Given the description of an element on the screen output the (x, y) to click on. 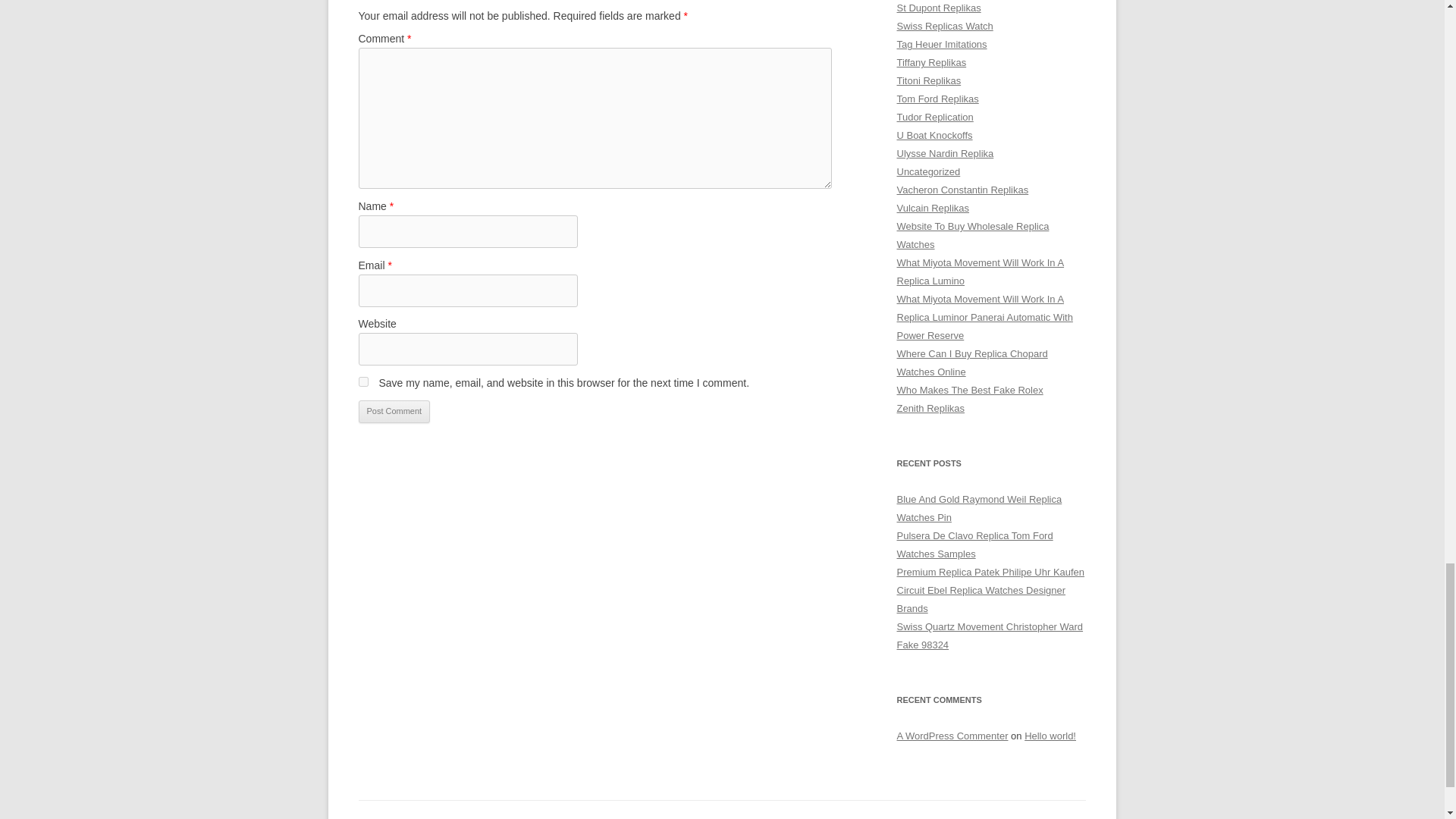
Post Comment (393, 411)
yes (363, 381)
Post Comment (393, 411)
